Given the description of an element on the screen output the (x, y) to click on. 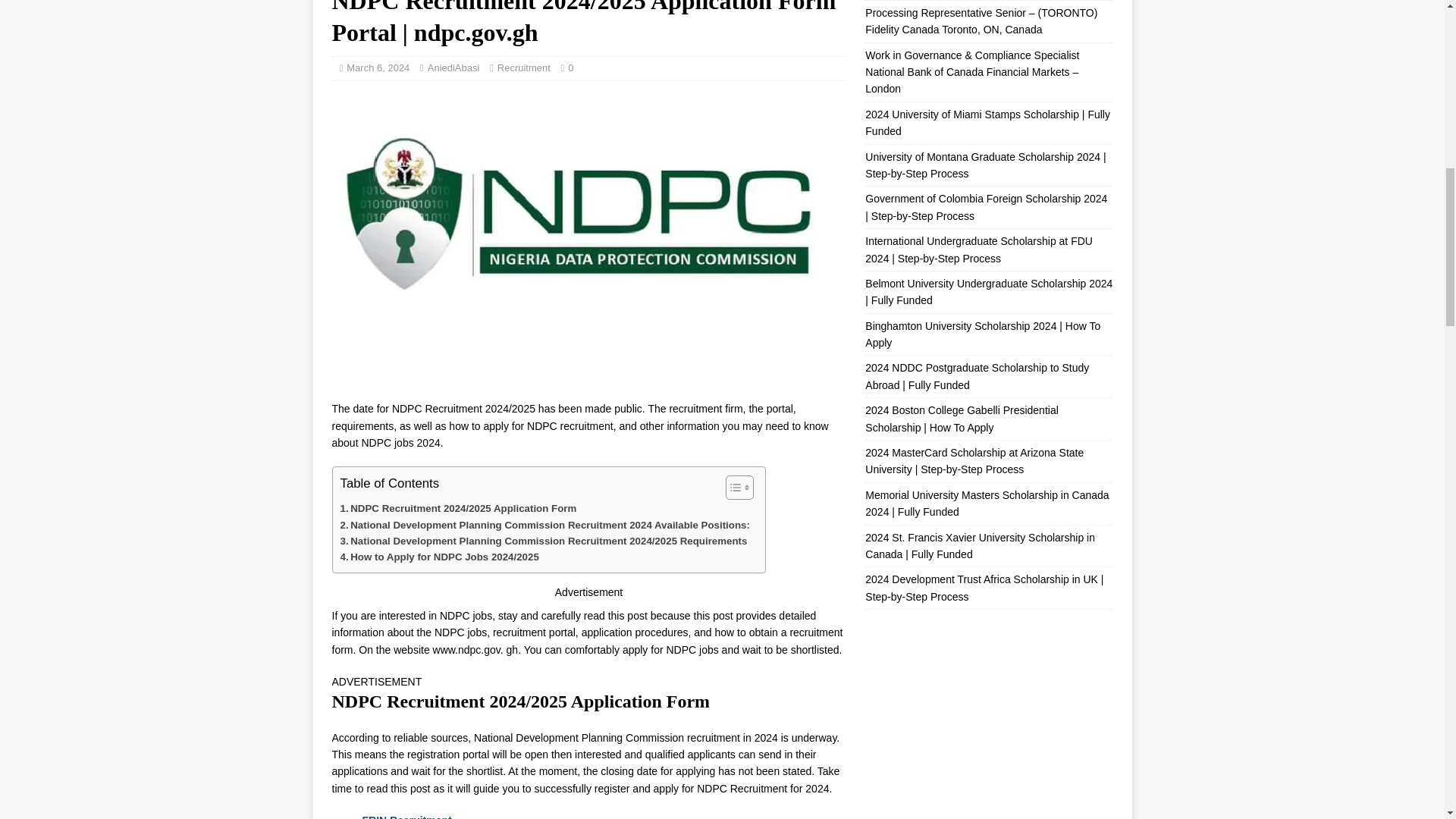
FRIN Recruitment  (408, 816)
March 6, 2024 (377, 67)
Recruitment (523, 67)
AniediAbasi (454, 67)
